Given the description of an element on the screen output the (x, y) to click on. 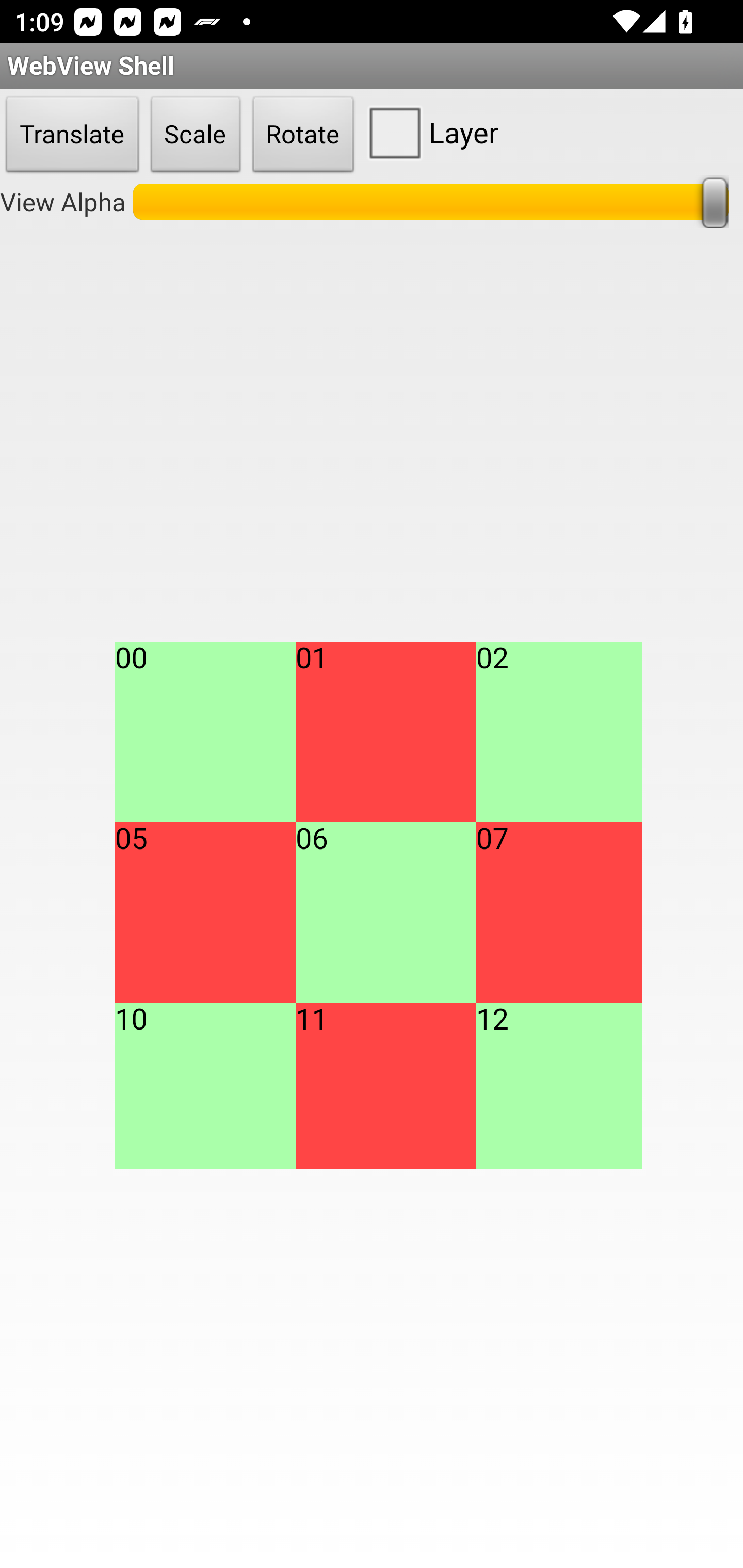
Layer (429, 132)
Translate (72, 135)
Scale (195, 135)
Rotate (303, 135)
